Given the description of an element on the screen output the (x, y) to click on. 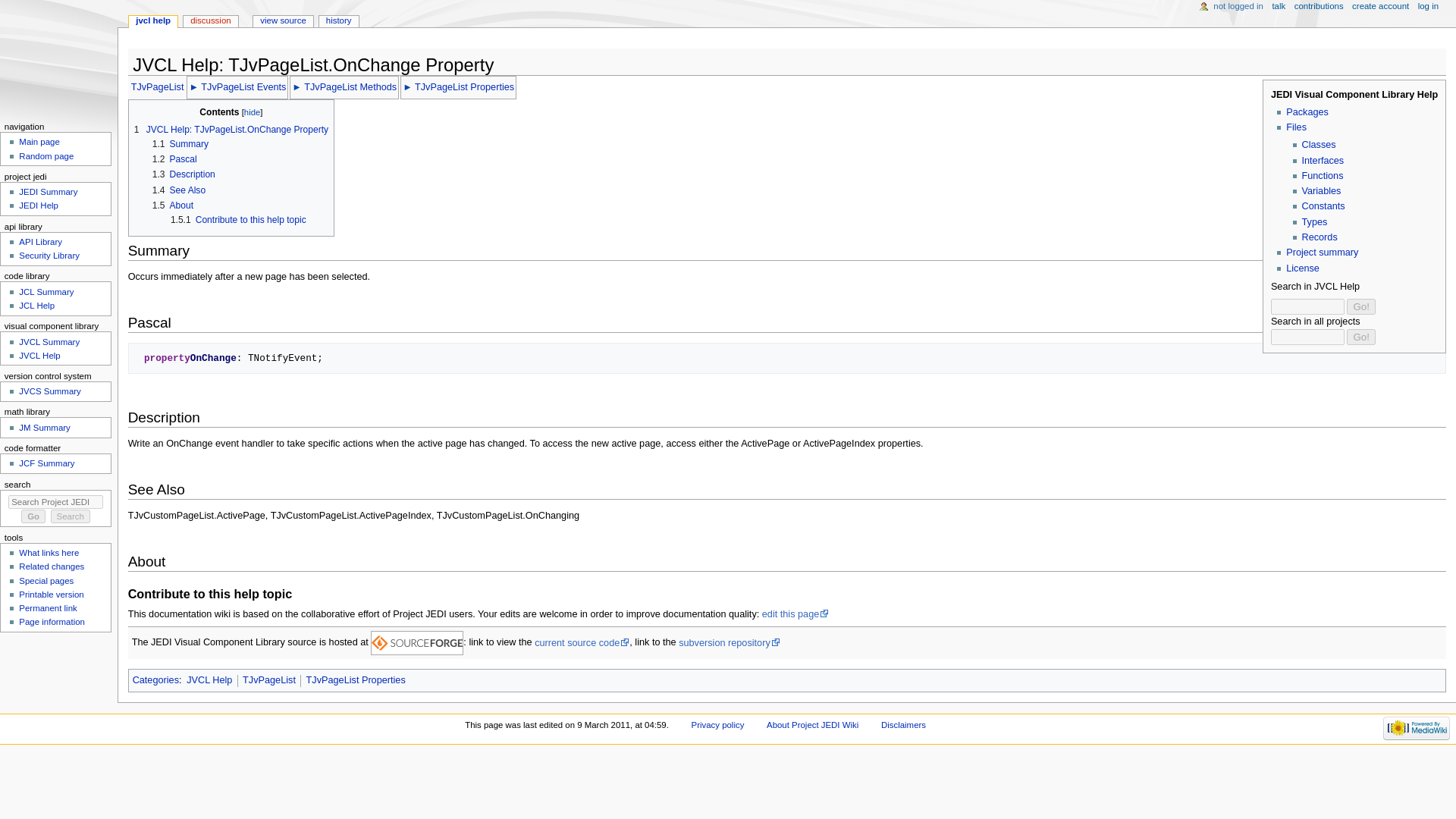
1.2 Pascal (174, 158)
Records (1318, 236)
1.5 About (172, 204)
TJvPageList (157, 86)
1.4 See Also (178, 190)
Types (1313, 222)
Category:TJvPageList Events (242, 86)
JVCL Help:JVCL Files (1295, 127)
JVCL Help:TJvPageList (157, 86)
Go (33, 516)
